Given the description of an element on the screen output the (x, y) to click on. 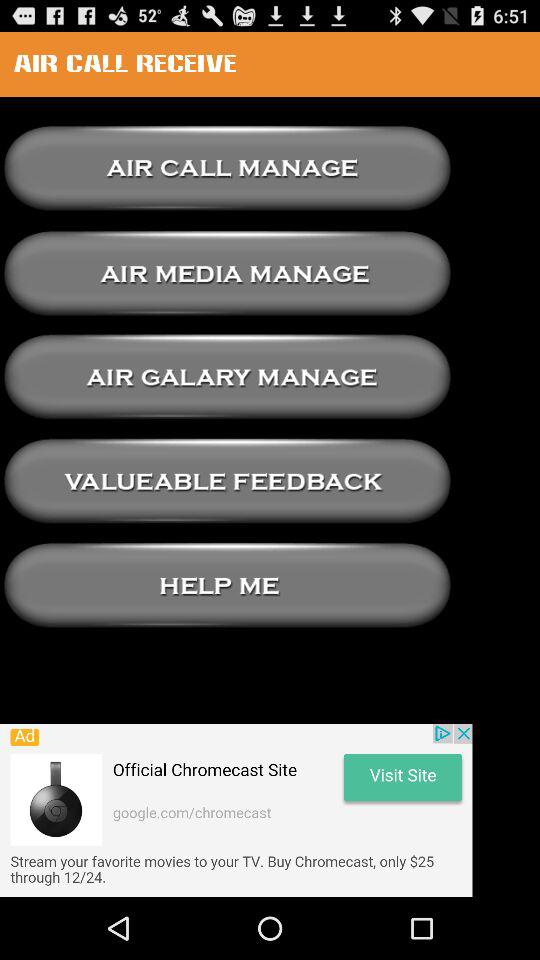
open link (227, 272)
